Given the description of an element on the screen output the (x, y) to click on. 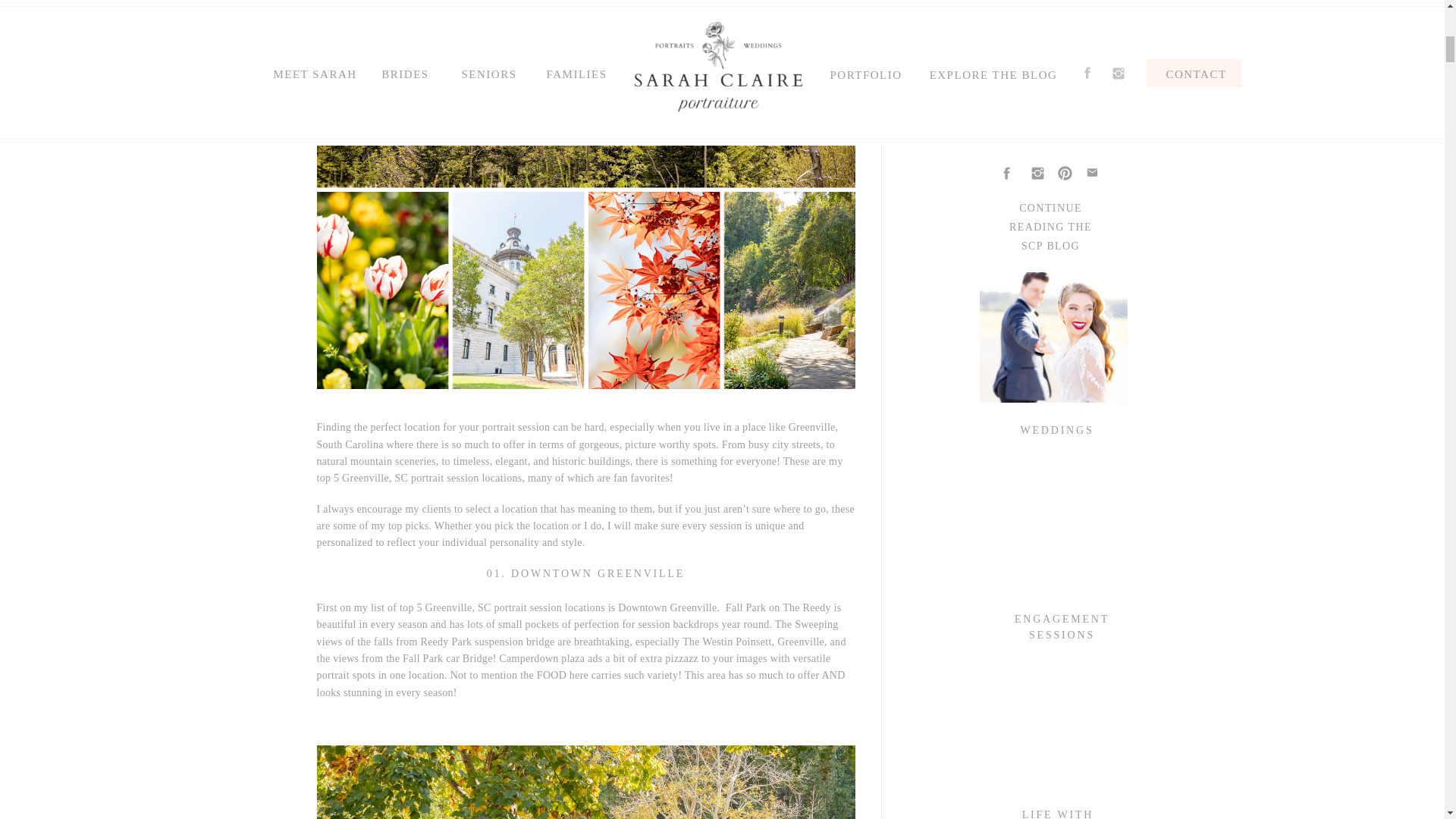
WEDDINGS (1056, 429)
ENGAGEMENT SESSIONS (1062, 626)
LIFE WITH SARAH CLAIRE (1056, 812)
